Given the description of an element on the screen output the (x, y) to click on. 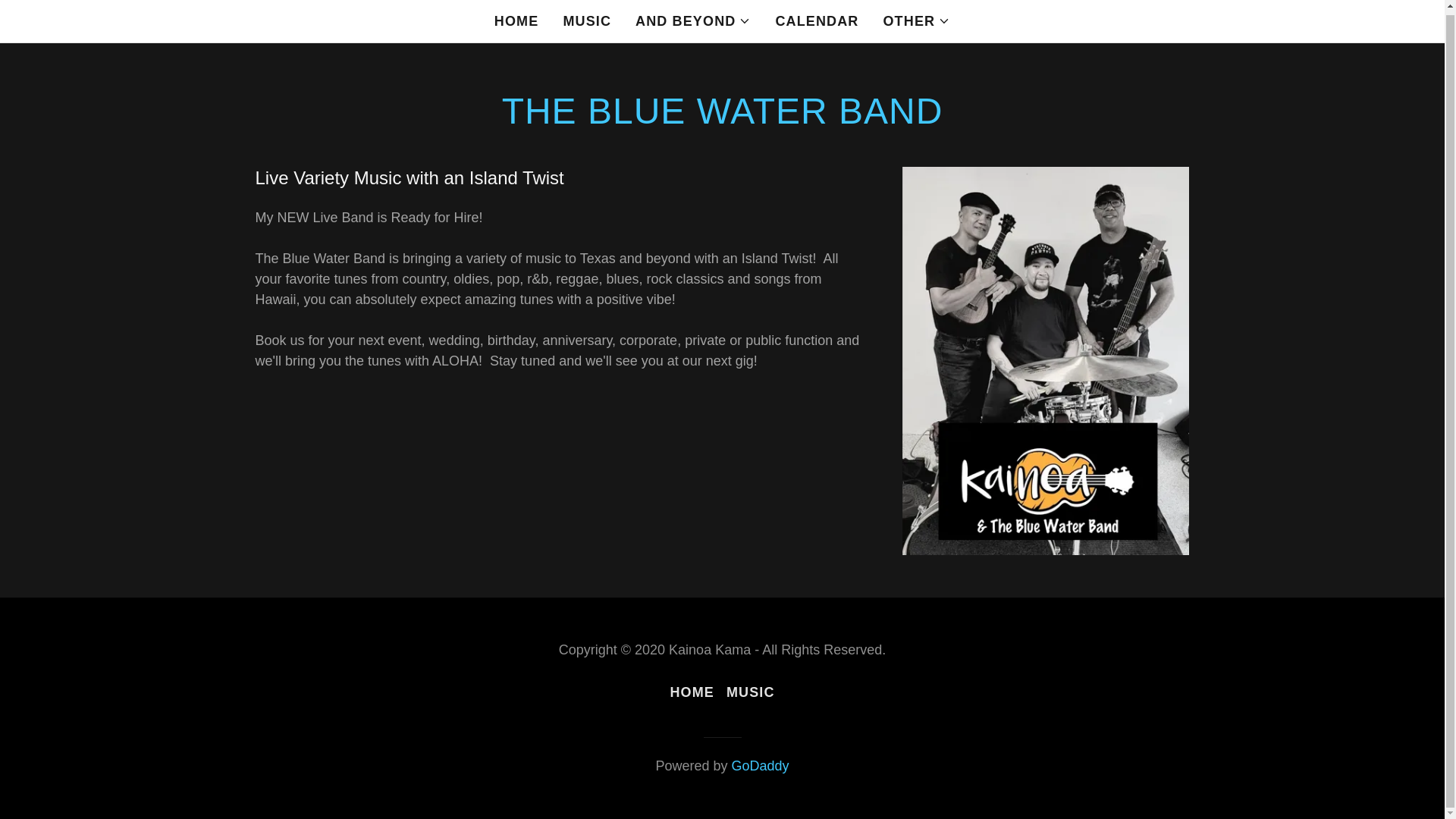
HOME (516, 21)
CALENDAR (816, 21)
GoDaddy (759, 765)
OTHER (916, 21)
MUSIC (586, 21)
HOME (691, 692)
MUSIC (750, 692)
AND BEYOND (692, 21)
